Given the description of an element on the screen output the (x, y) to click on. 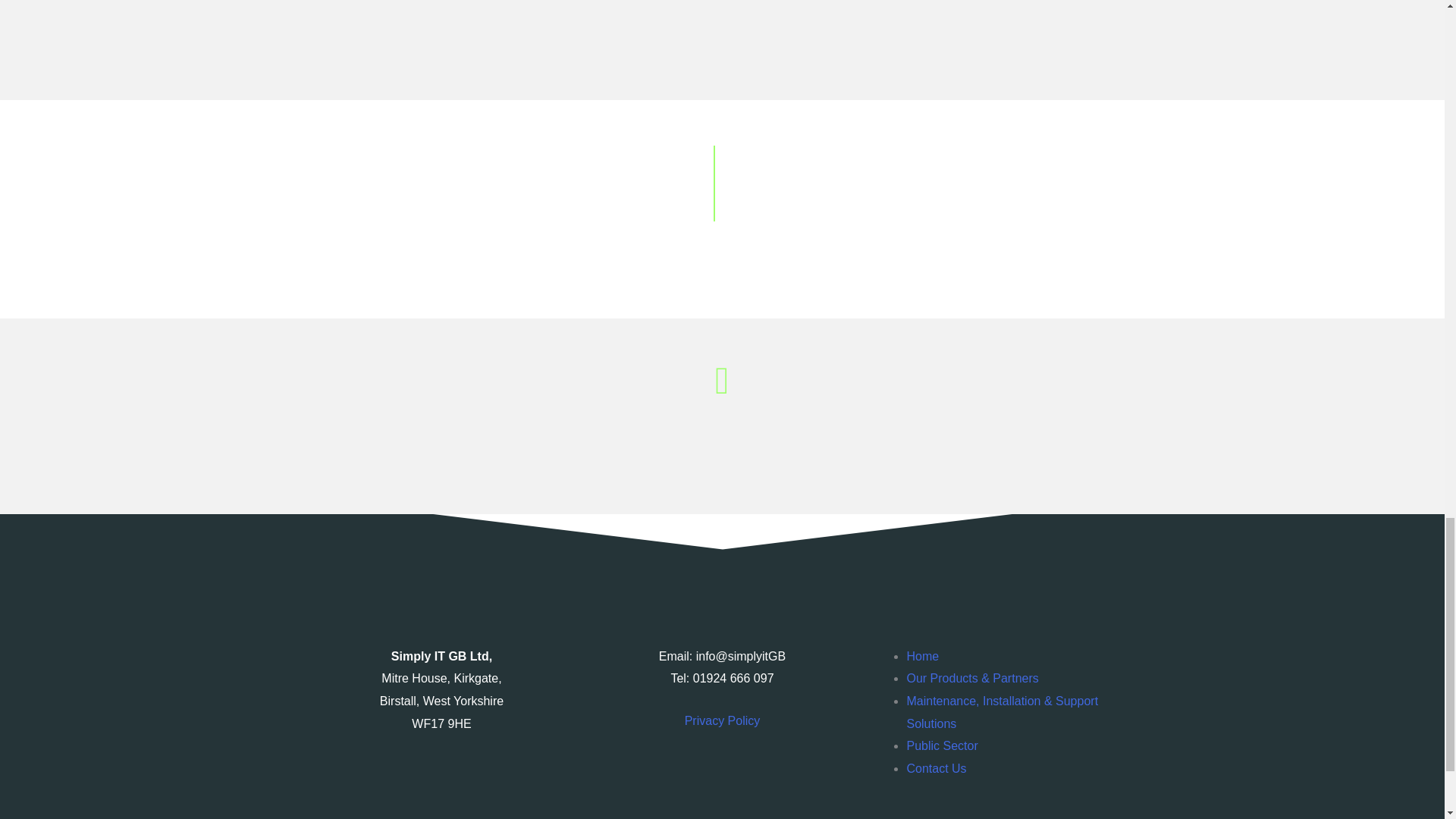
Privacy Policy (722, 720)
Contact Us (935, 768)
Public Sector (940, 745)
Home (922, 656)
